Given the description of an element on the screen output the (x, y) to click on. 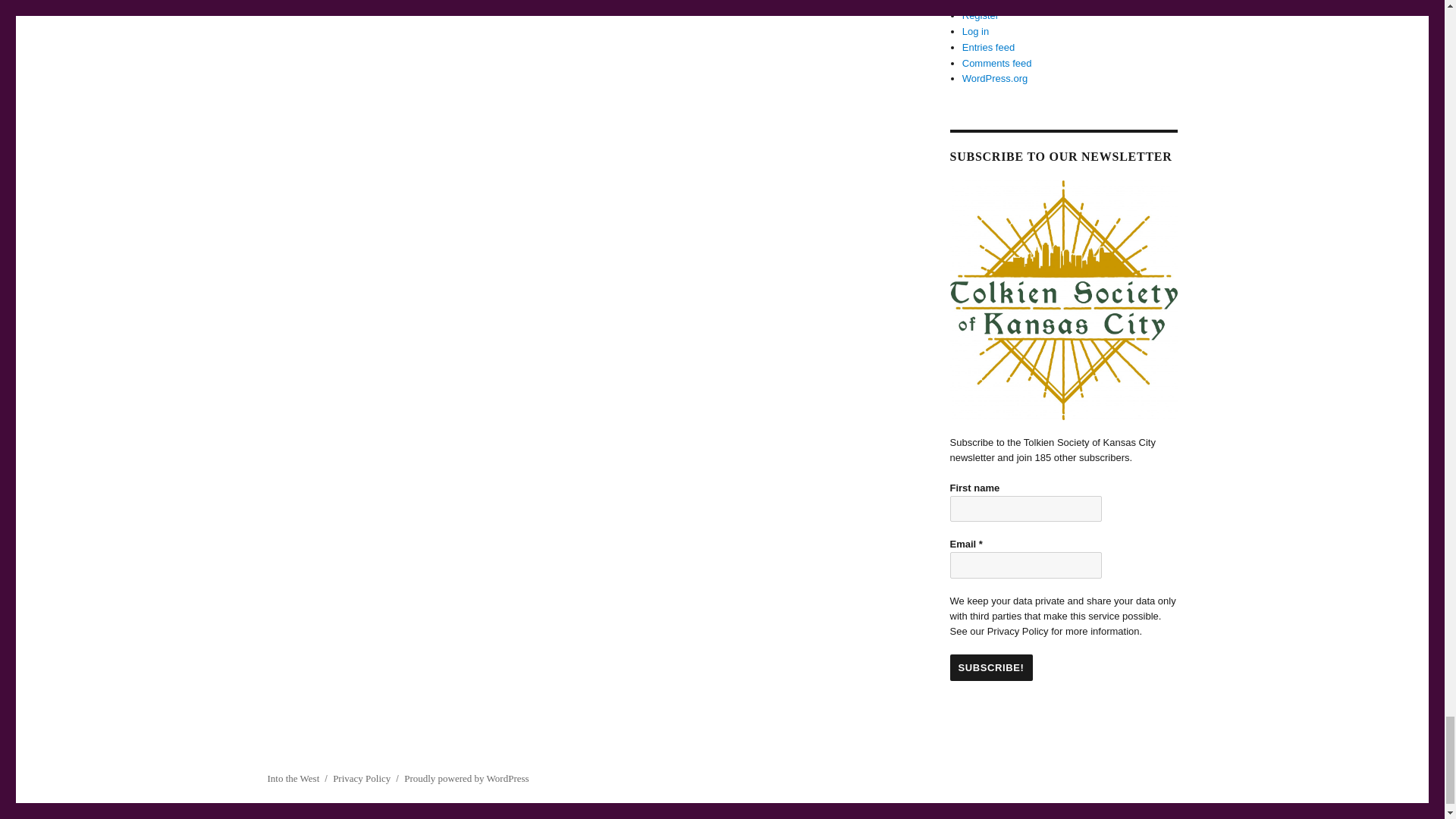
Subscribe! (990, 667)
First name (1024, 508)
Email (1024, 565)
